Given the description of an element on the screen output the (x, y) to click on. 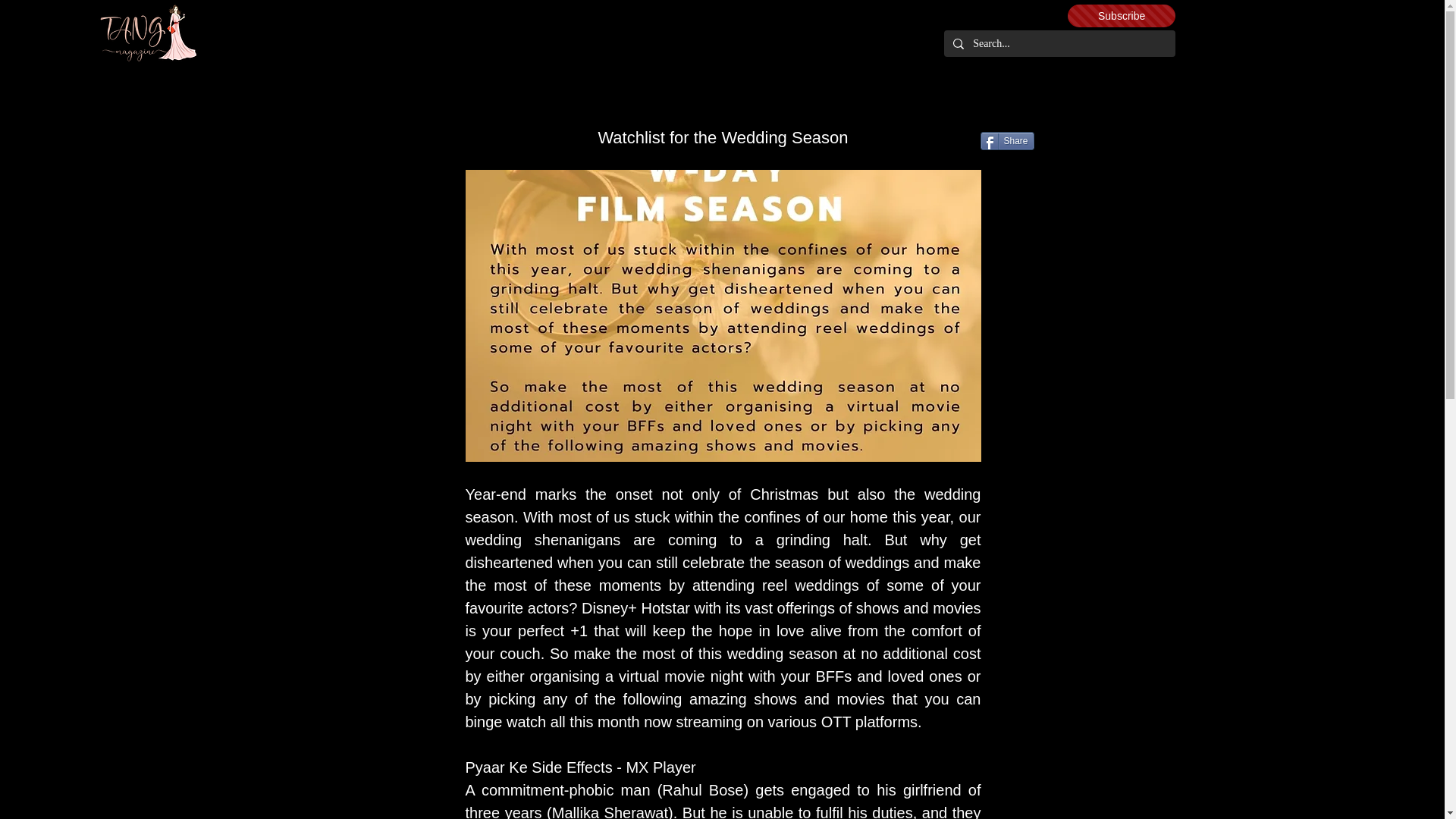
Share (1006, 140)
Subscribe (1120, 15)
Share (1006, 140)
